Given the description of an element on the screen output the (x, y) to click on. 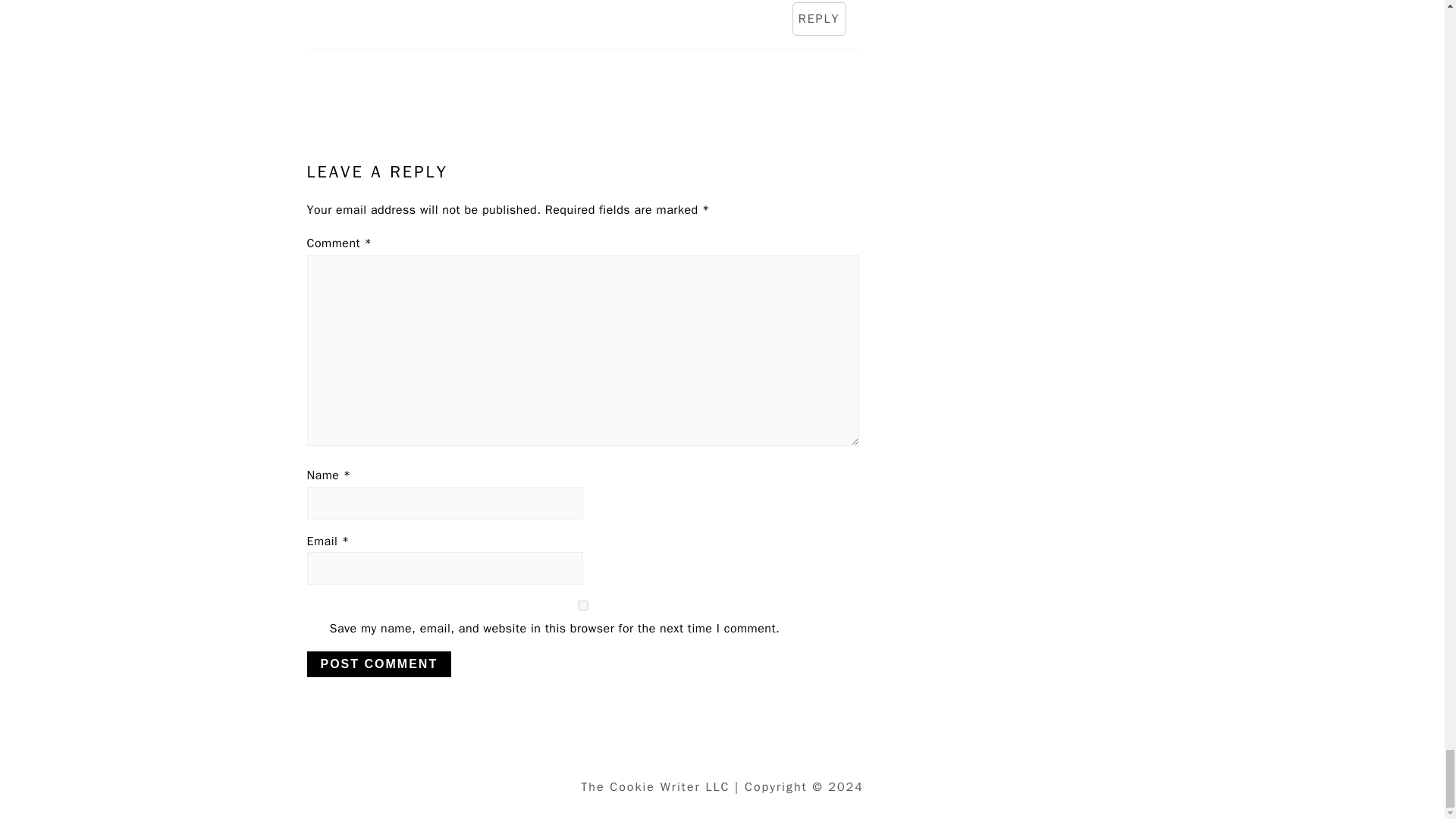
yes (582, 605)
Post Comment (378, 664)
